Given the description of an element on the screen output the (x, y) to click on. 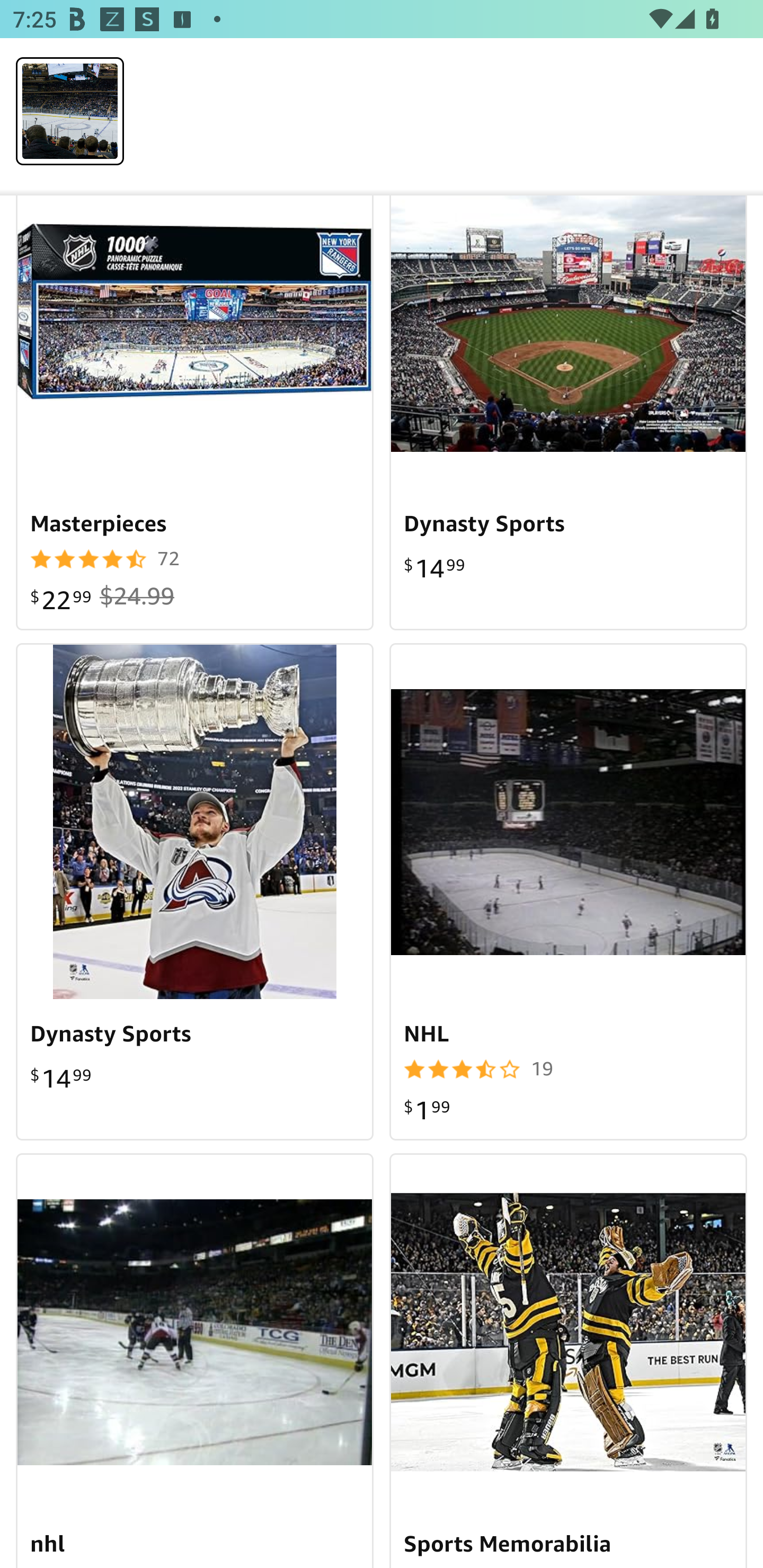
Masterpieces 72 $ 22 99 $24.99 (194, 413)
Dynasty Sports $ 14 99 (567, 413)
Dynasty Sports $ 14 99 (194, 890)
NHL 19 $ 1 99 (567, 890)
nhl (194, 1360)
Sports Memorabilia (567, 1360)
